Given the description of an element on the screen output the (x, y) to click on. 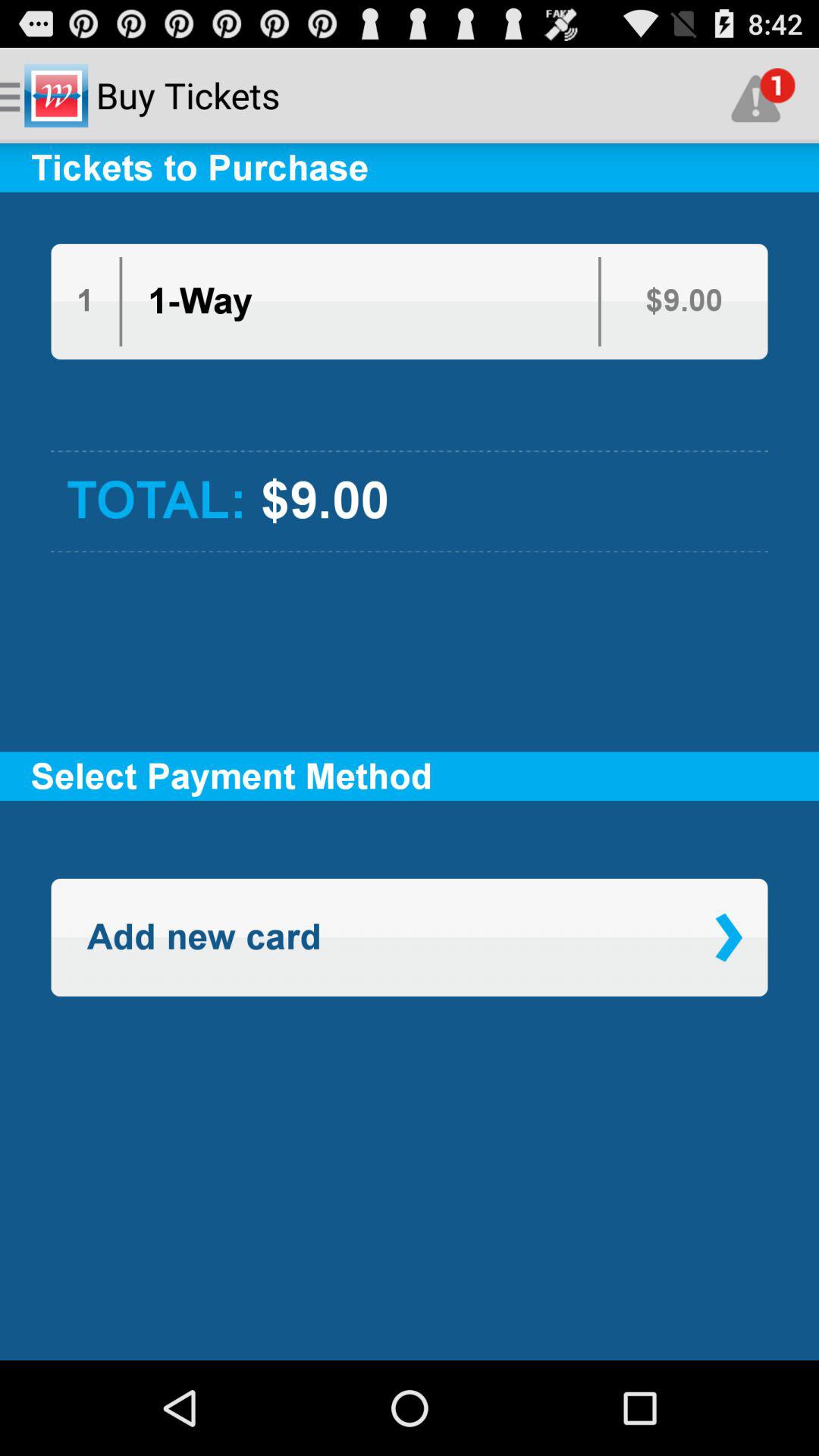
select item to the right of the add new card icon (728, 937)
